Given the description of an element on the screen output the (x, y) to click on. 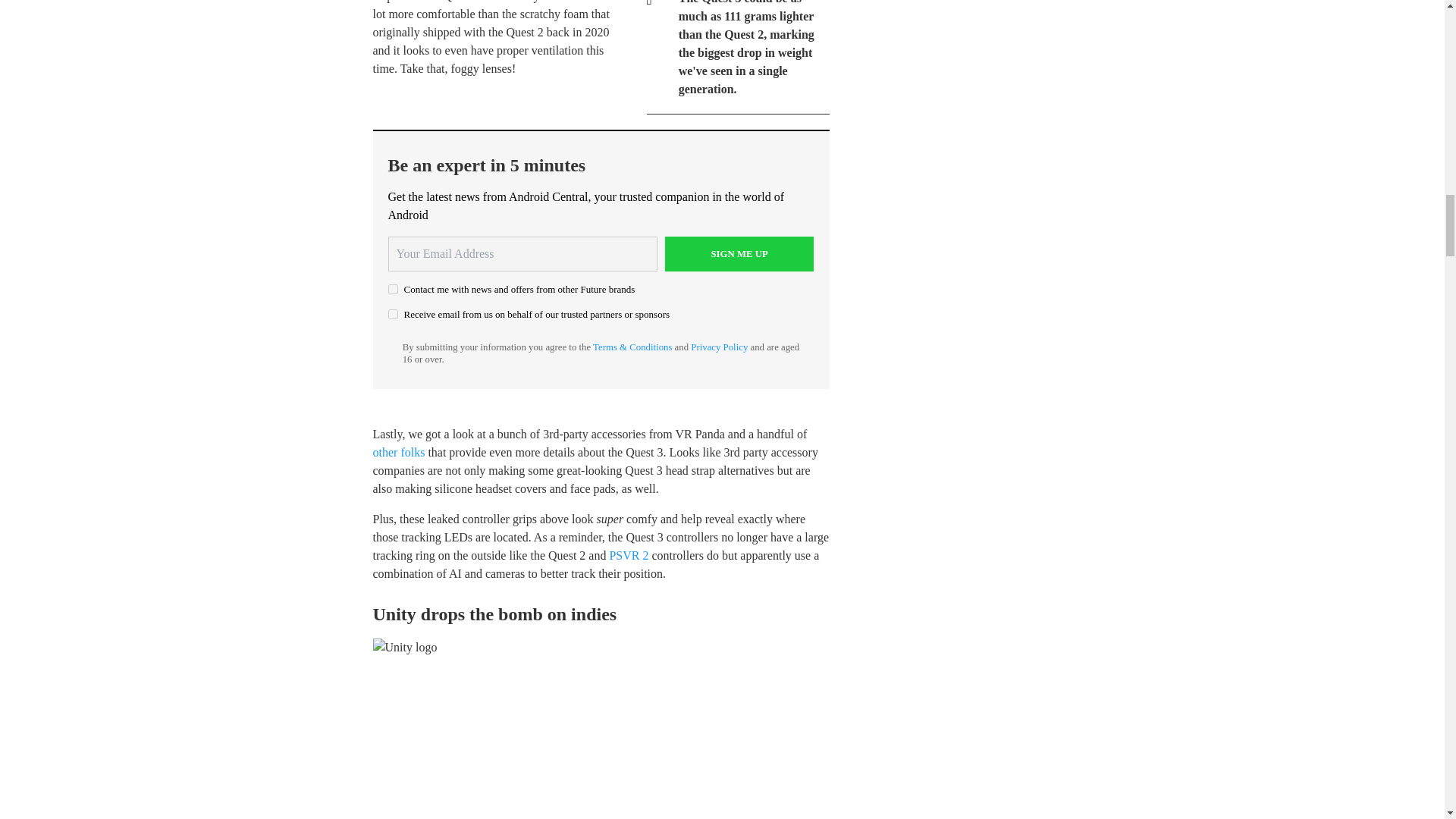
on (392, 289)
on (392, 314)
Sign me up (739, 253)
